Given the description of an element on the screen output the (x, y) to click on. 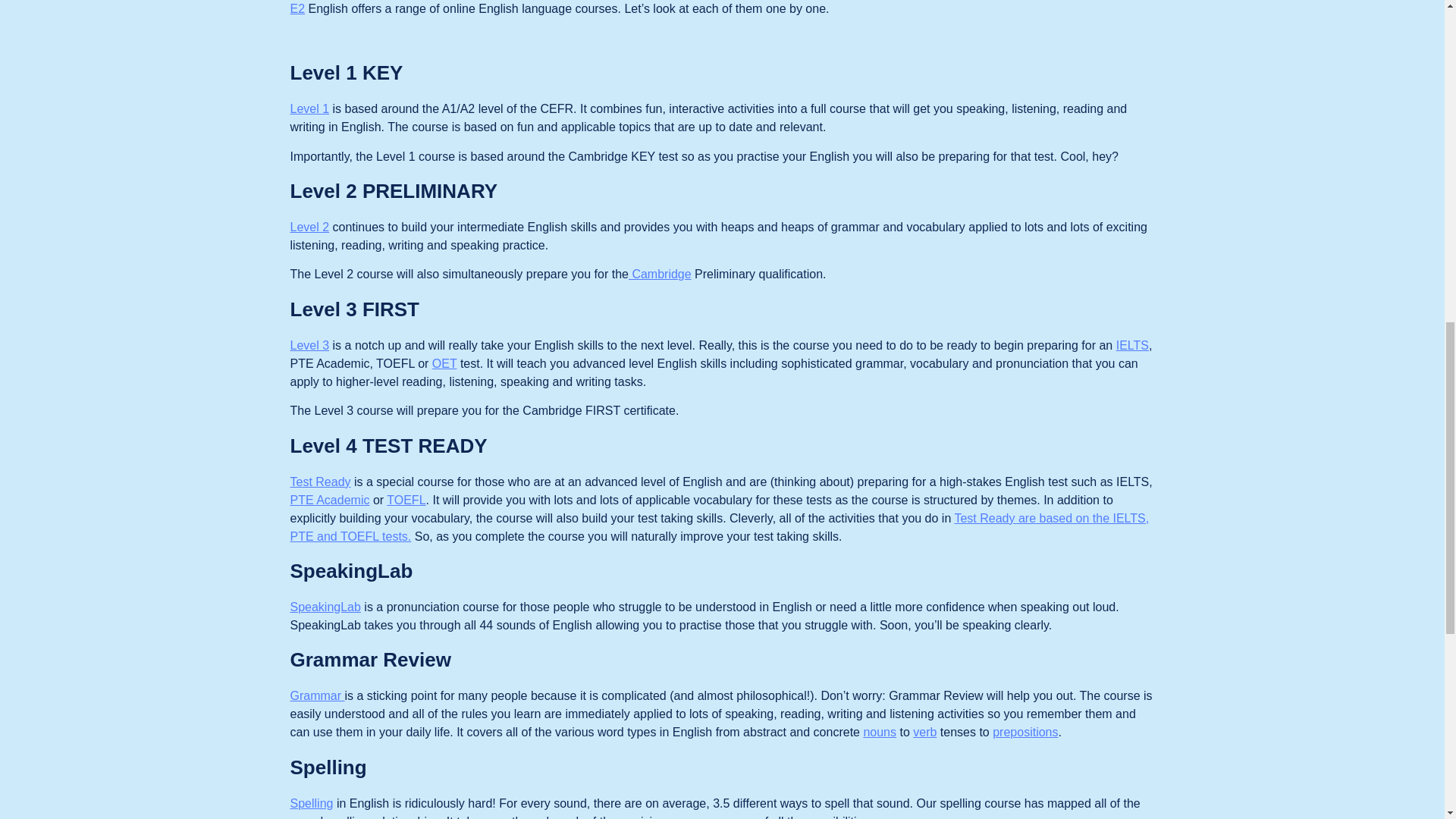
Spelling (311, 802)
Level 2 (309, 226)
TOEFL (406, 499)
Test Ready (319, 481)
Level 1 (309, 108)
OET (444, 363)
nouns (879, 731)
PTE Academic (329, 499)
Grammar (316, 695)
Test Ready are based on the IELTS, PTE and TOEFL tests. (718, 526)
SpeakingLab (324, 606)
verb (924, 731)
Cambridge (659, 273)
Level 3 (309, 345)
E2 (296, 8)
